Given the description of an element on the screen output the (x, y) to click on. 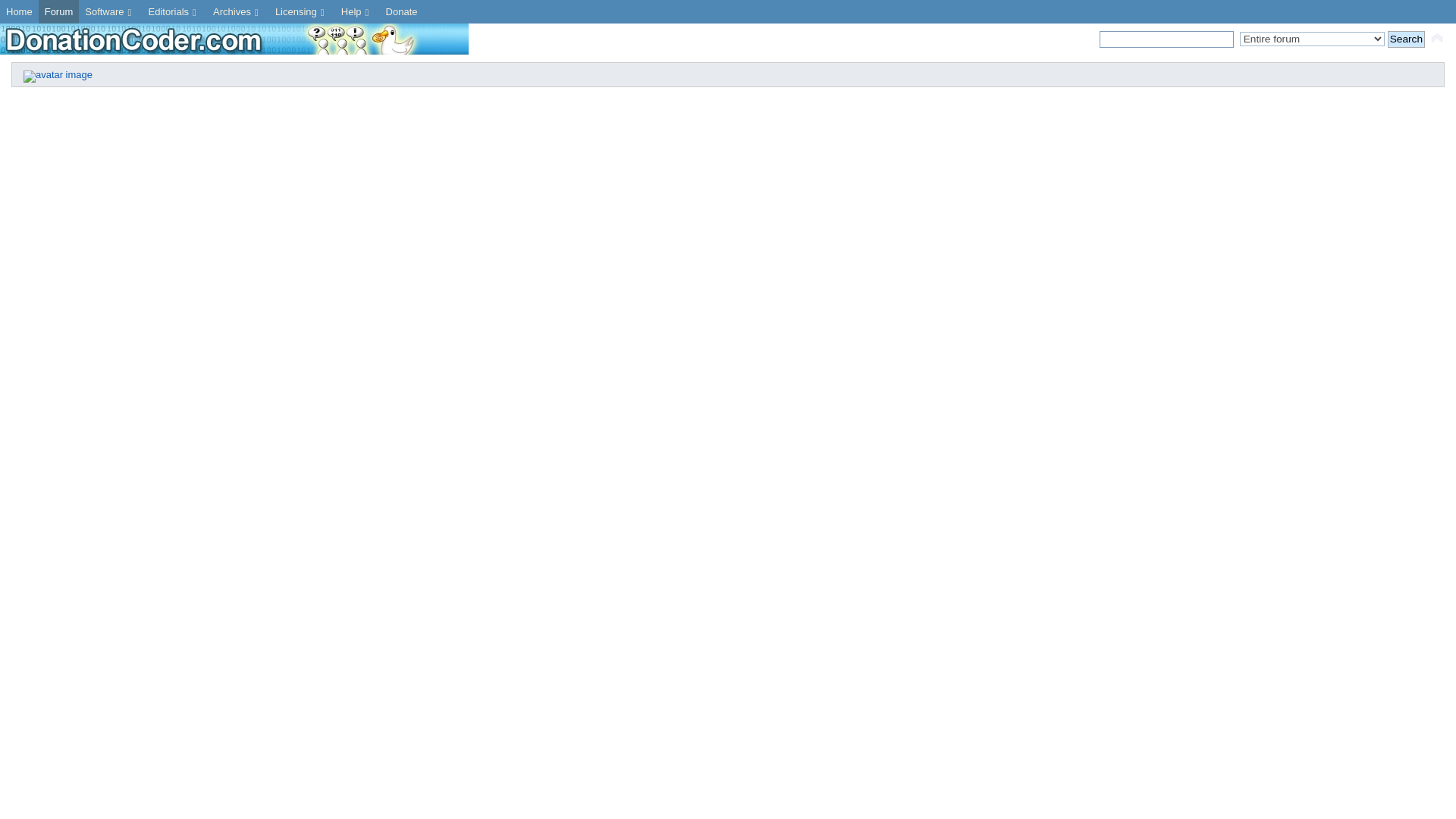
Archives (237, 11)
Search (1406, 39)
Shrink or expand the header. (1436, 38)
Forum (59, 11)
click to register on the forum (58, 74)
Editorials (174, 11)
Software (109, 11)
Home (19, 11)
